Given the description of an element on the screen output the (x, y) to click on. 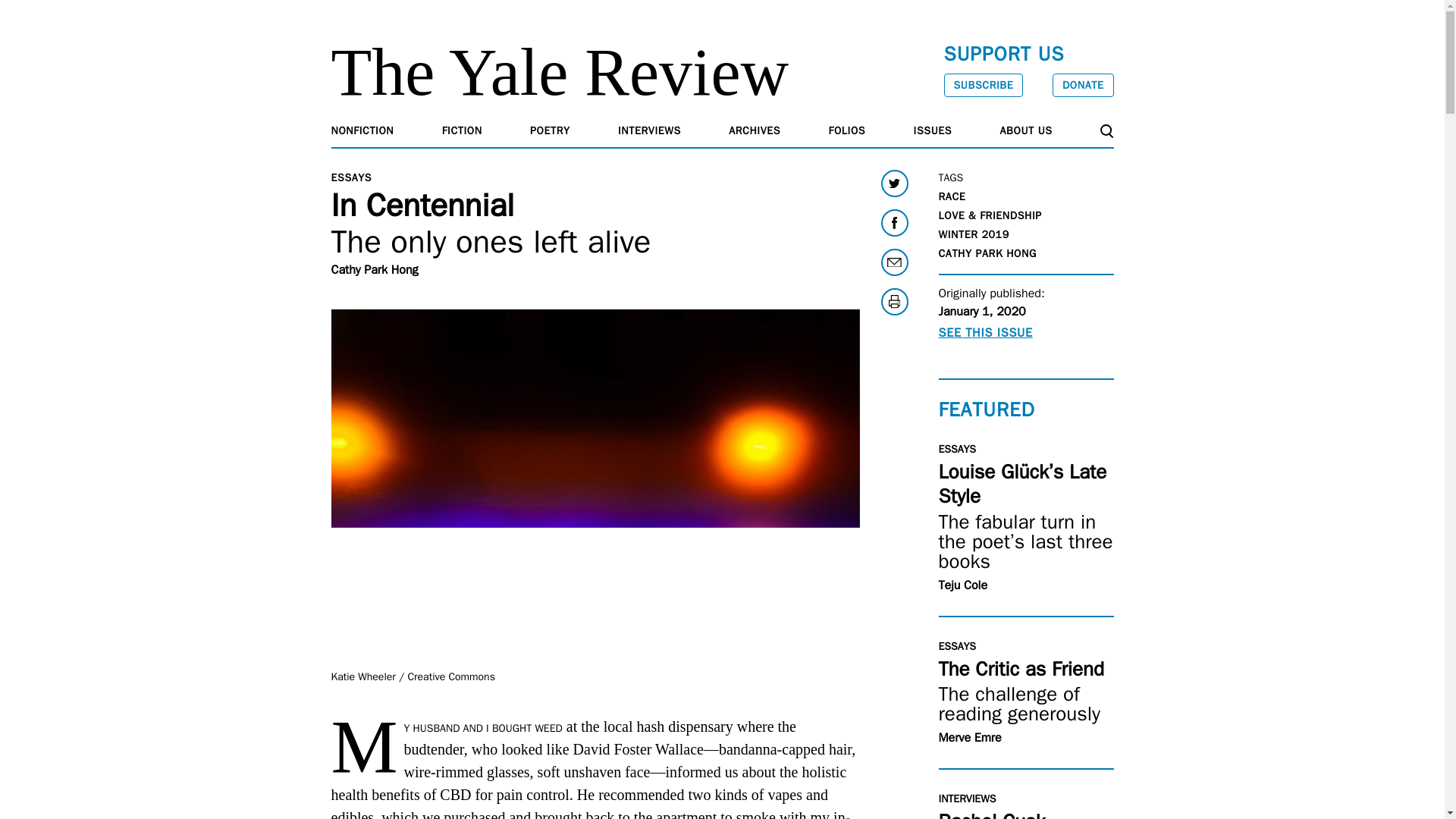
INTERVIEWS (649, 130)
ABOUT US (1026, 130)
The Yale Review (559, 72)
FOLIOS (847, 130)
FICTION (461, 130)
NONFICTION (361, 130)
DONATE (1082, 84)
SUBSCRIBE (983, 84)
ISSUES (933, 130)
ARCHIVES (754, 130)
POETRY (549, 130)
